Given the description of an element on the screen output the (x, y) to click on. 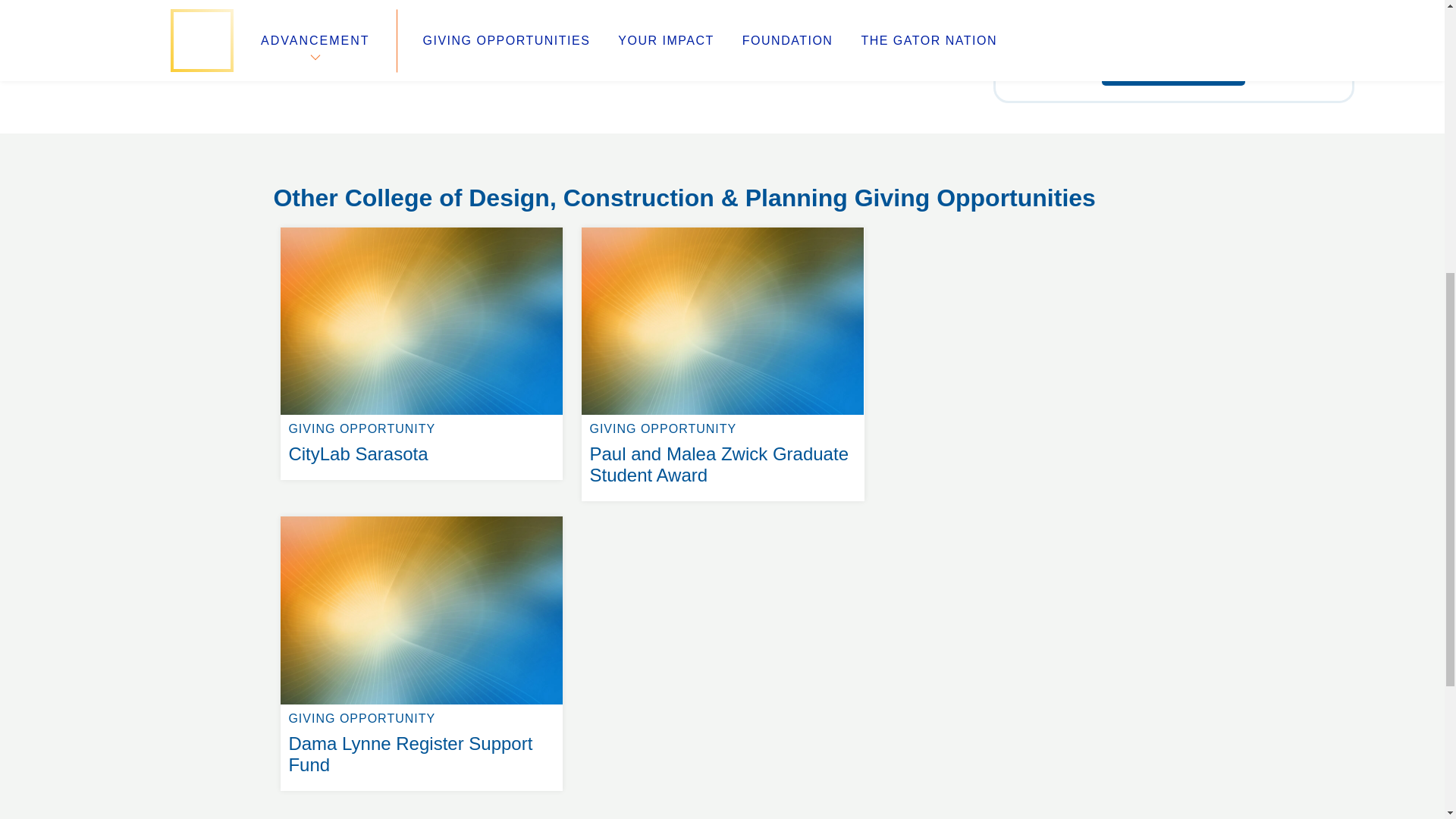
Advancement HUB (560, 148)
Disclosures (537, 202)
University of Florida (840, 148)
Privacy Policy (545, 184)
Contact Us (306, 202)
Join Our Team (317, 148)
Foundation Board (327, 184)
Complete My Gift (421, 516)
Staff Directory (421, 227)
Advancement Toolkit (1173, 69)
